Given the description of an element on the screen output the (x, y) to click on. 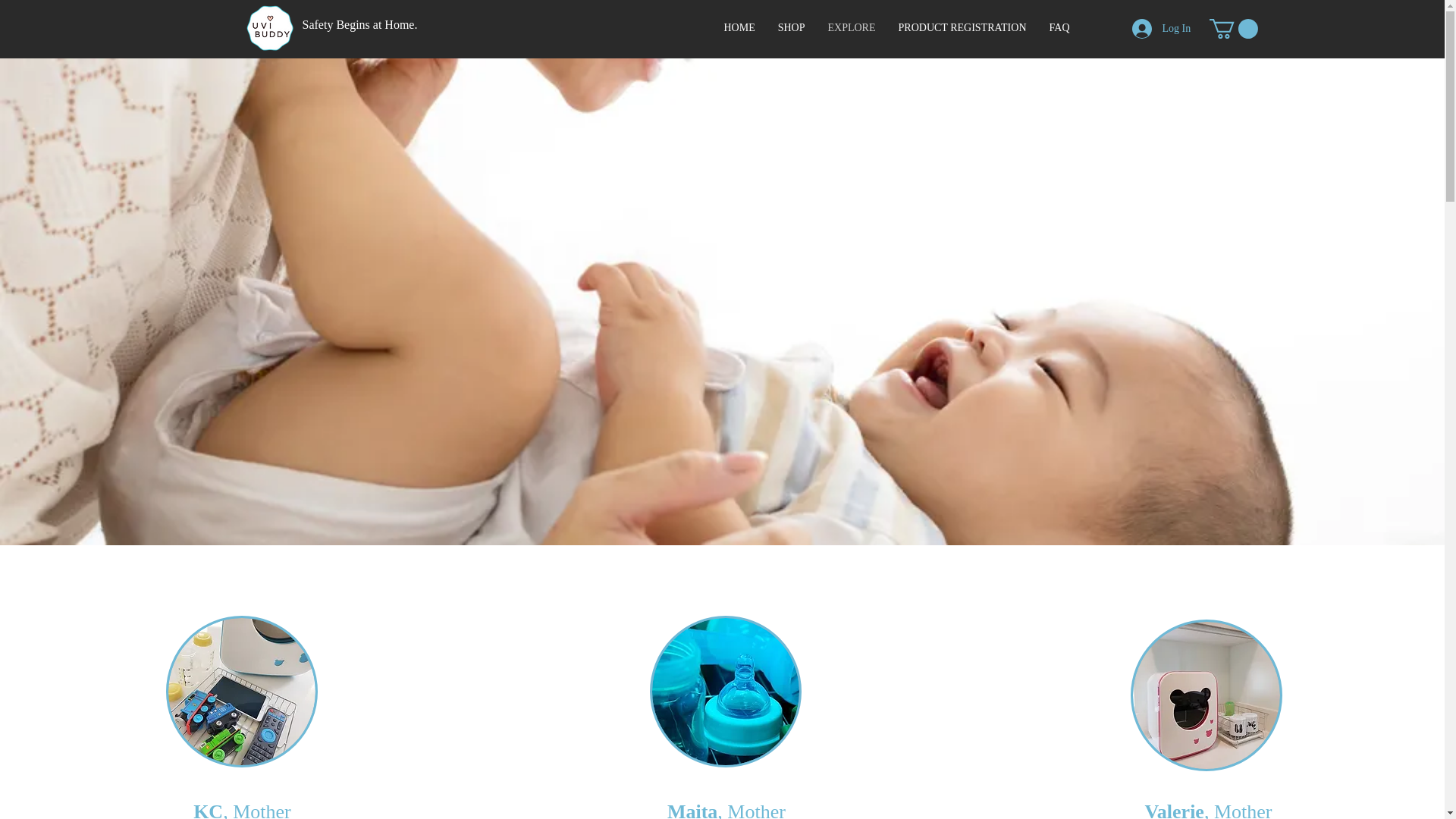
PRODUCT REGISTRATION (962, 27)
Log In (1151, 28)
EXPLORE (850, 27)
HOME (740, 27)
SHOP (790, 27)
GettyImages-124893619.jpg (725, 691)
FAQ (1058, 27)
GettyImages-535587703.jpg (241, 691)
GettyImages-145680711.jpg (1206, 695)
